Given the description of an element on the screen output the (x, y) to click on. 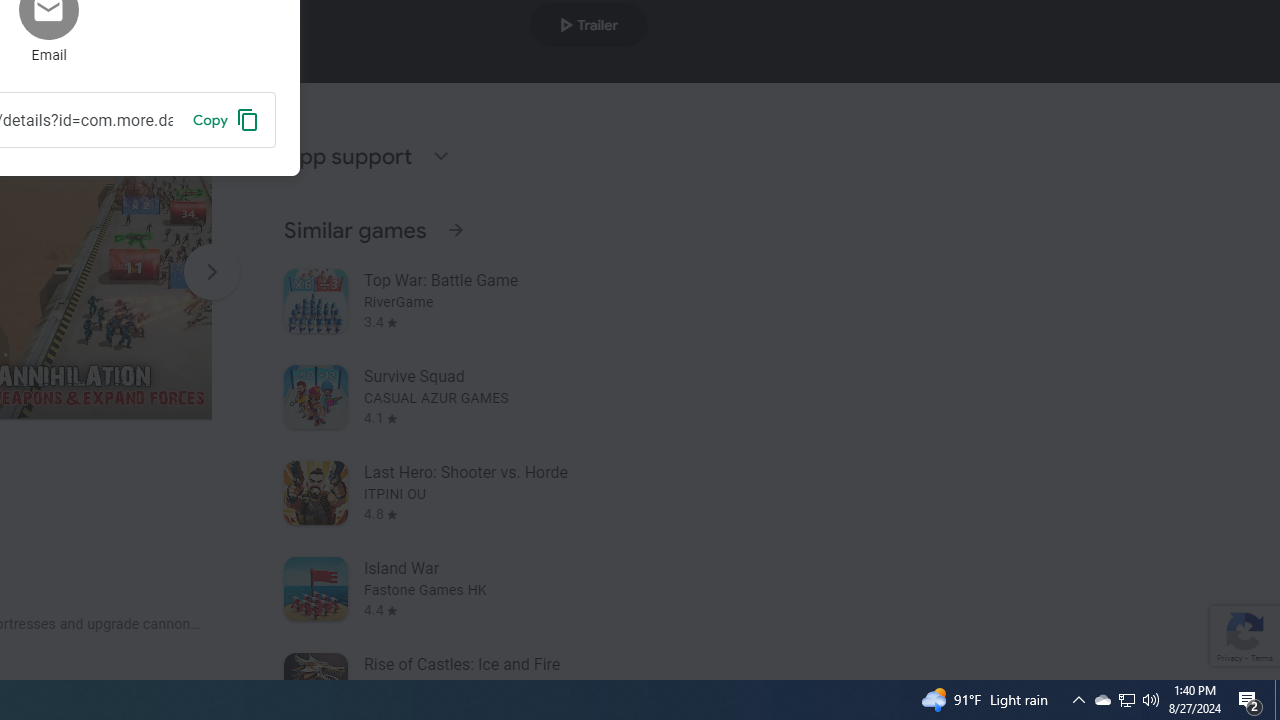
Copy link to clipboard (225, 119)
